Given the description of an element on the screen output the (x, y) to click on. 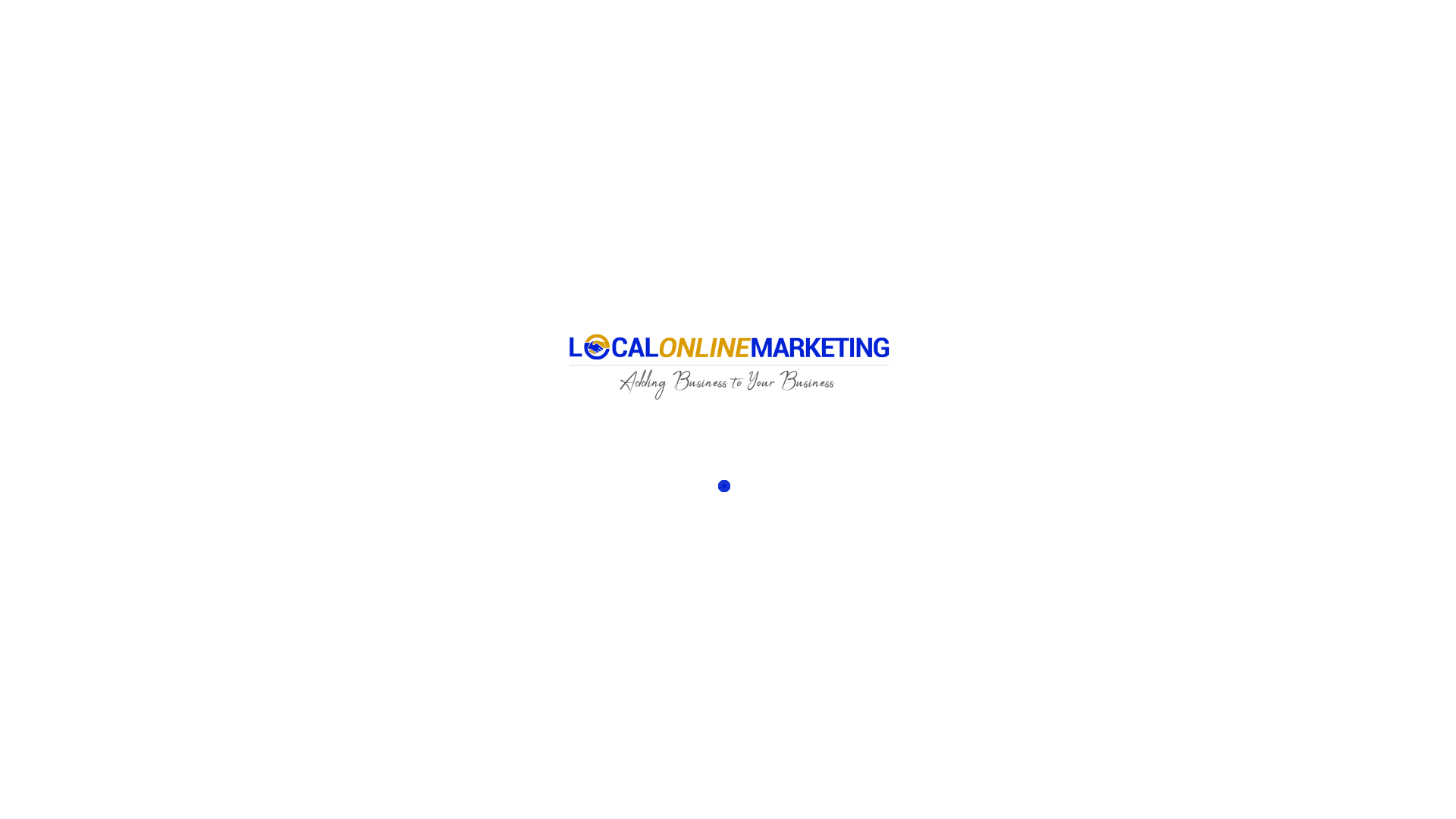
Home Element type: text (723, 716)
Domain Names Element type: text (884, 716)
DOMAIN NAMES Element type: text (718, 32)
Packages Element type: text (770, 716)
Tutorials Element type: text (821, 716)
CONTACT SAM Element type: text (956, 32)
Covid-19 uncovered Element type: text (1113, 716)
HOME Element type: text (440, 32)
Packages Element type: text (905, 476)
TUTORIALS Element type: text (612, 32)
PACKAGES Element type: text (519, 32)
Contact Sam Element type: text (1034, 716)
Home Element type: text (898, 461)
Be Seen Online Element type: hover (476, 34)
Contact Us Element type: text (910, 492)
SEO APPLICATION Element type: text (839, 32)
SEO Application Element type: text (962, 716)
COVID-19 UNCOVERED Element type: text (1085, 32)
